Given the description of an element on the screen output the (x, y) to click on. 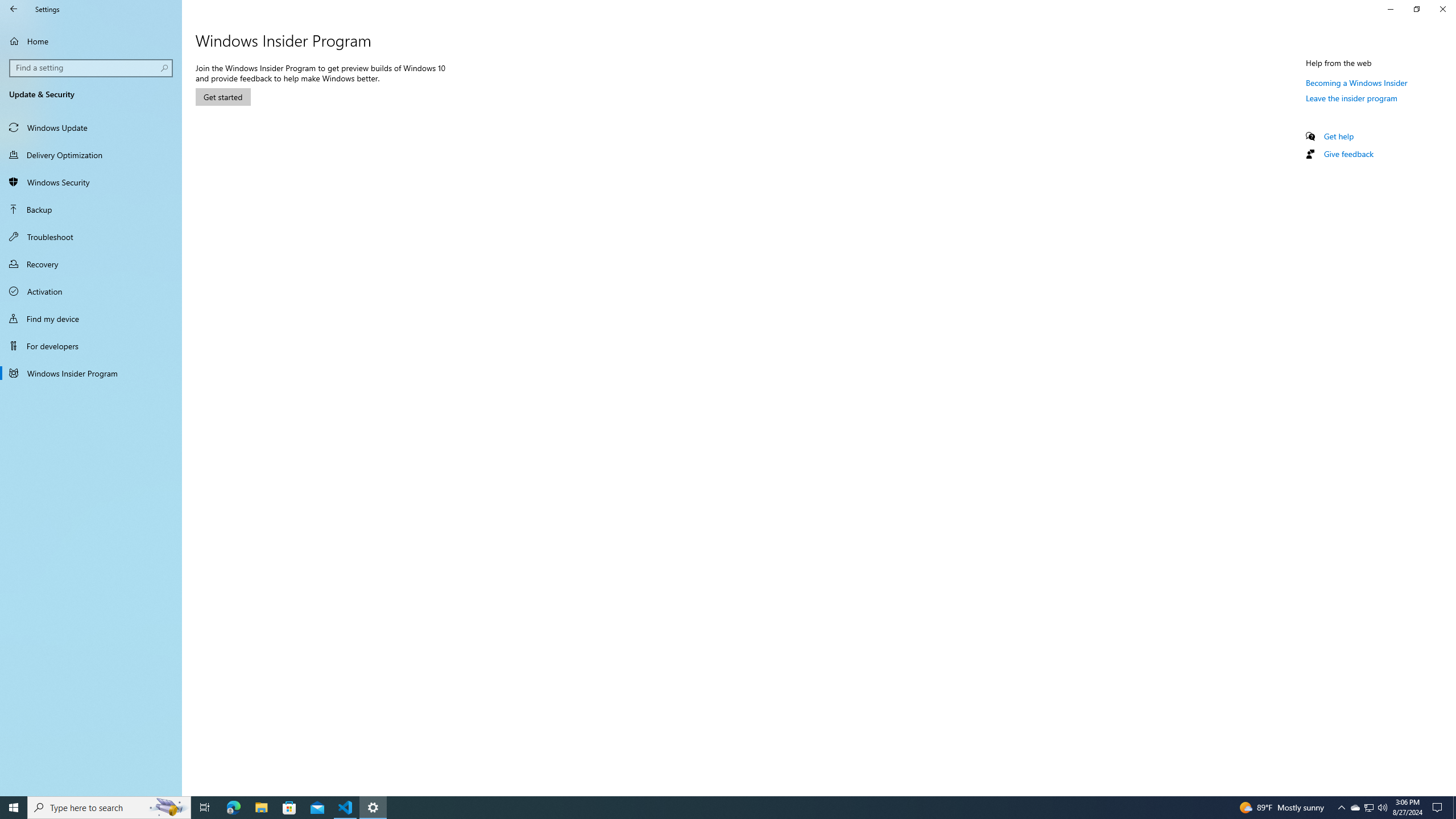
Find my device (91, 318)
Becoming a Windows Insider (1356, 82)
Troubleshoot (91, 236)
Recovery (91, 263)
